Given the description of an element on the screen output the (x, y) to click on. 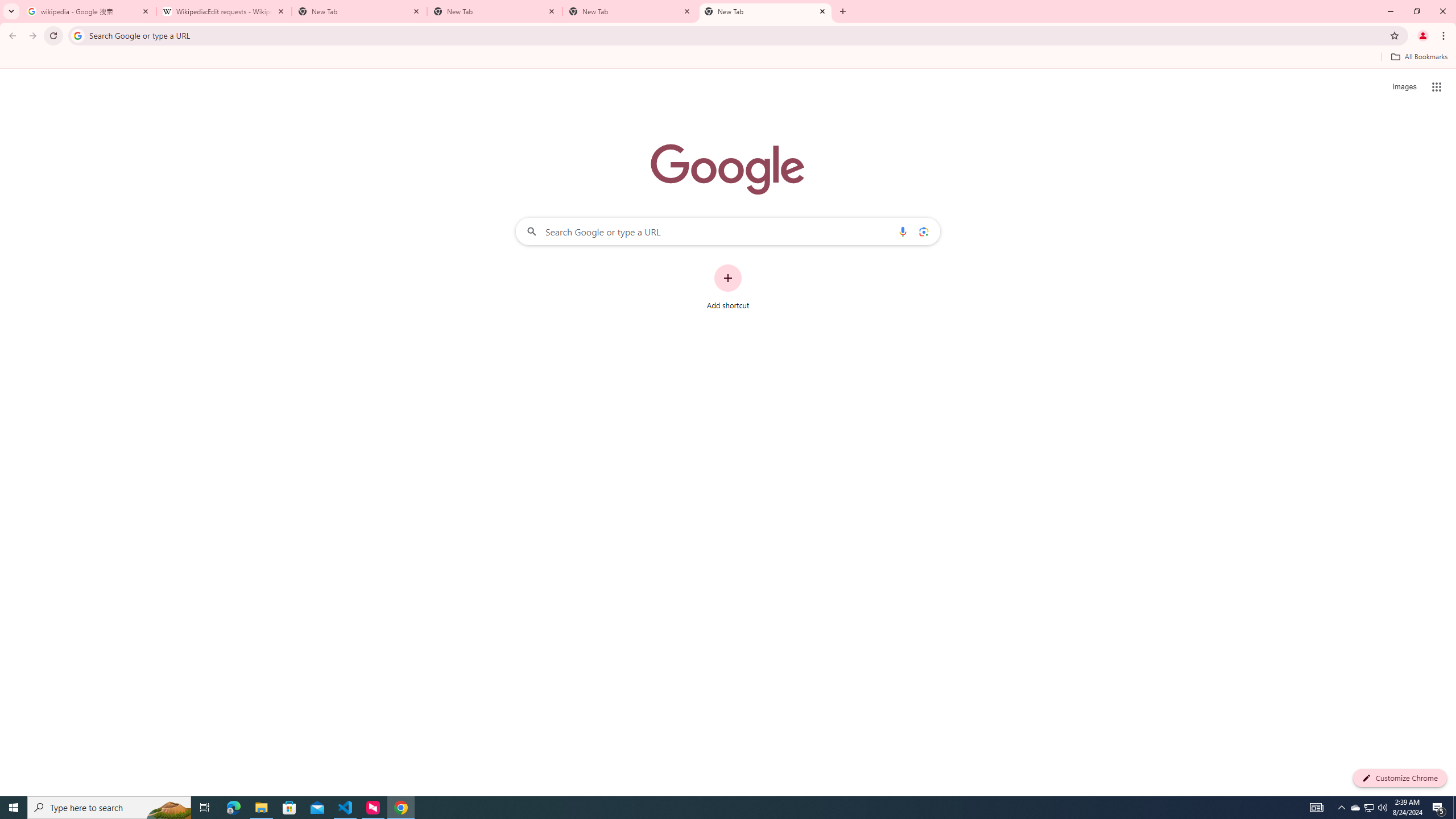
New Tab (494, 11)
Wikipedia:Edit requests - Wikipedia (224, 11)
